Given the description of an element on the screen output the (x, y) to click on. 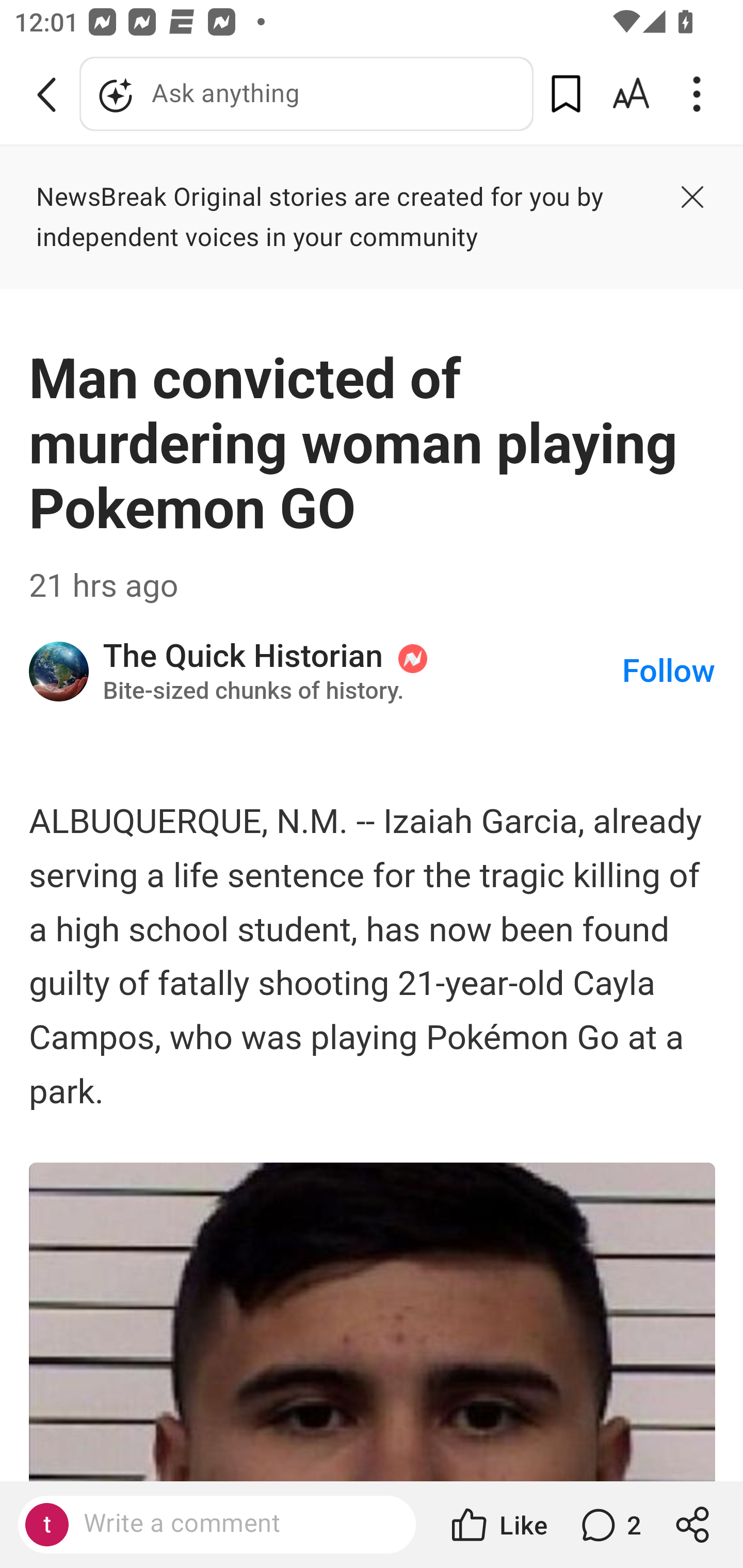
Ask anything (306, 93)
The Quick Historian  Bite-sized chunks of history. (361, 671)
The (59, 671)
Follow (668, 671)
Like (497, 1524)
2 (608, 1524)
Write a comment (234, 1523)
